Given the description of an element on the screen output the (x, y) to click on. 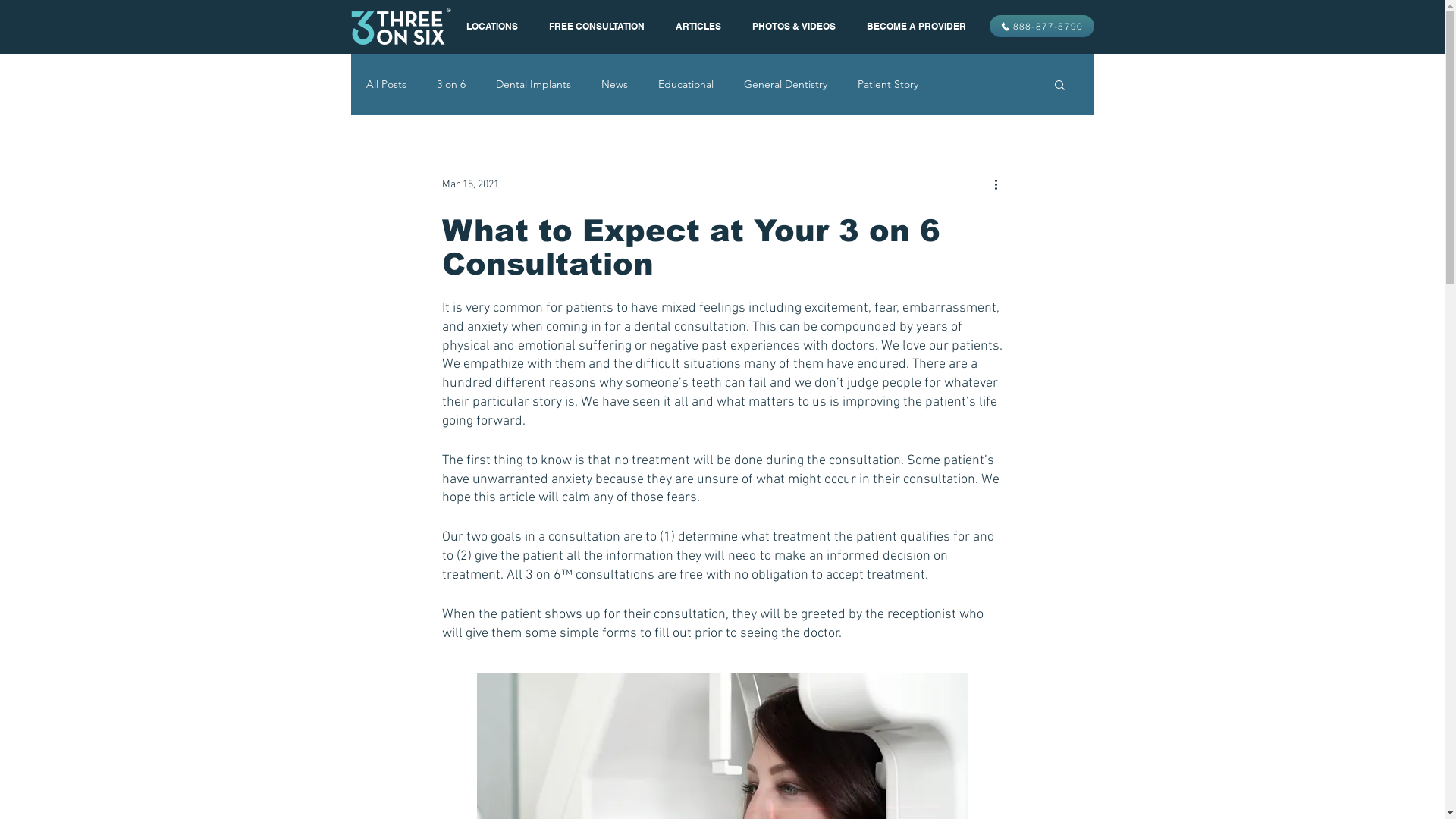
All Posts Element type: text (385, 84)
PHOTOS & VIDEOS Element type: text (794, 26)
LOCATIONS Element type: text (491, 26)
FREE CONSULTATION Element type: text (596, 26)
888-877-5790 Element type: text (1040, 26)
General Dentistry Element type: text (784, 84)
3 on 6 Element type: text (450, 84)
Dental Implants Element type: text (533, 84)
Patient Story Element type: text (886, 84)
ARTICLES Element type: text (697, 26)
News Element type: text (613, 84)
Educational Element type: text (685, 84)
BECOME A PROVIDER Element type: text (915, 26)
